Given the description of an element on the screen output the (x, y) to click on. 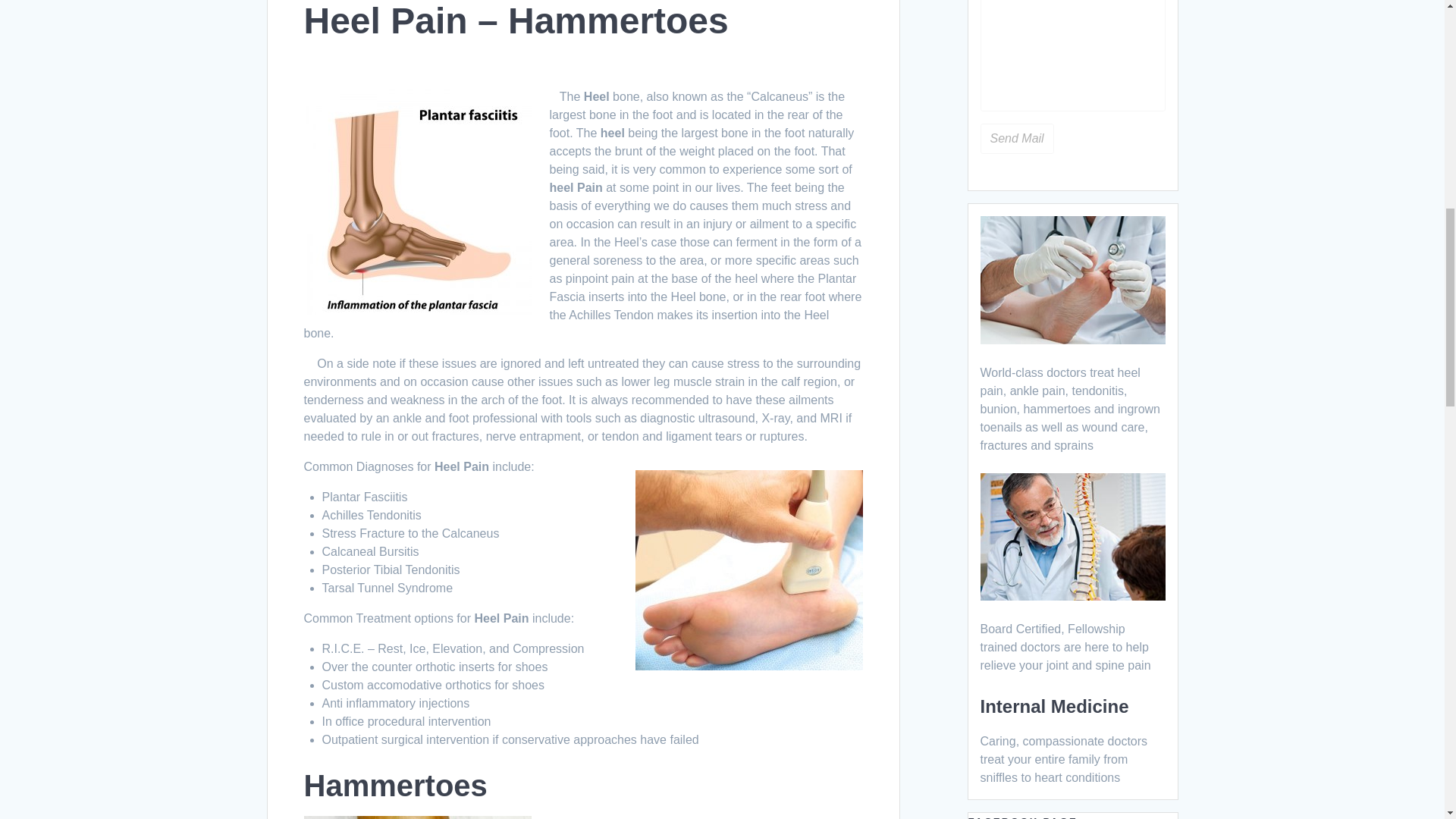
Send Mail (1015, 138)
Podiatry (1071, 337)
Internal Medicine (1053, 706)
Pain Management (1071, 593)
